Given the description of an element on the screen output the (x, y) to click on. 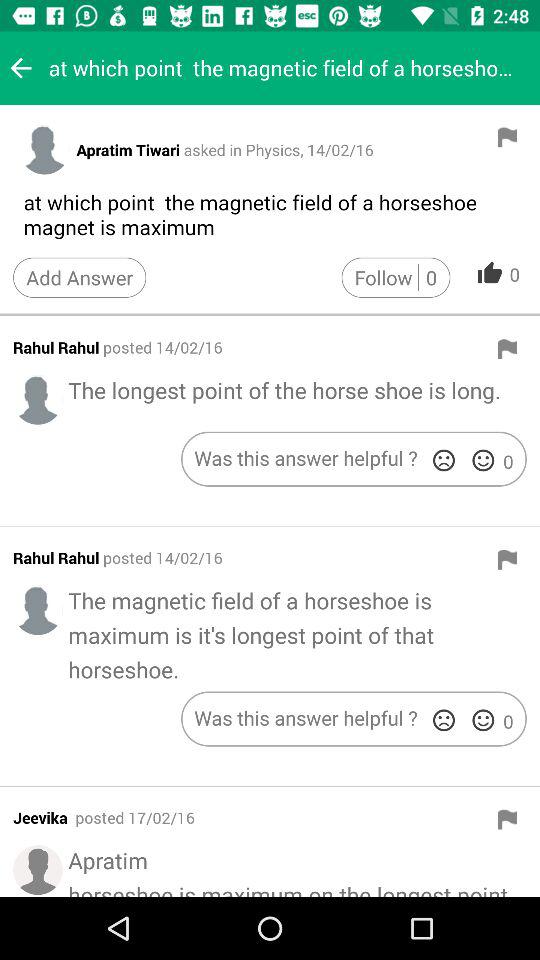
flag commentary (507, 559)
